Given the description of an element on the screen output the (x, y) to click on. 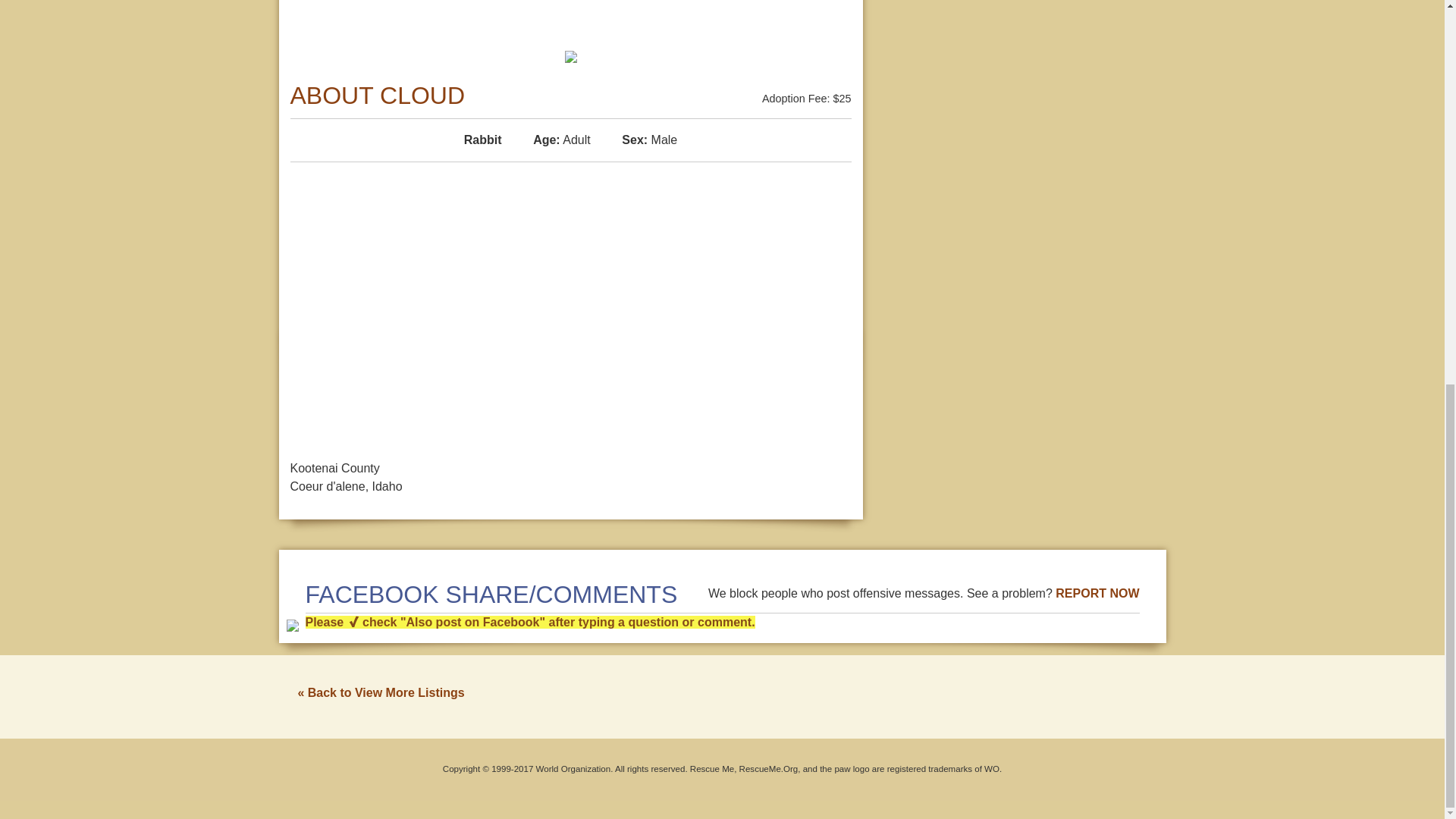
REPORT NOW (1096, 593)
